Given the description of an element on the screen output the (x, y) to click on. 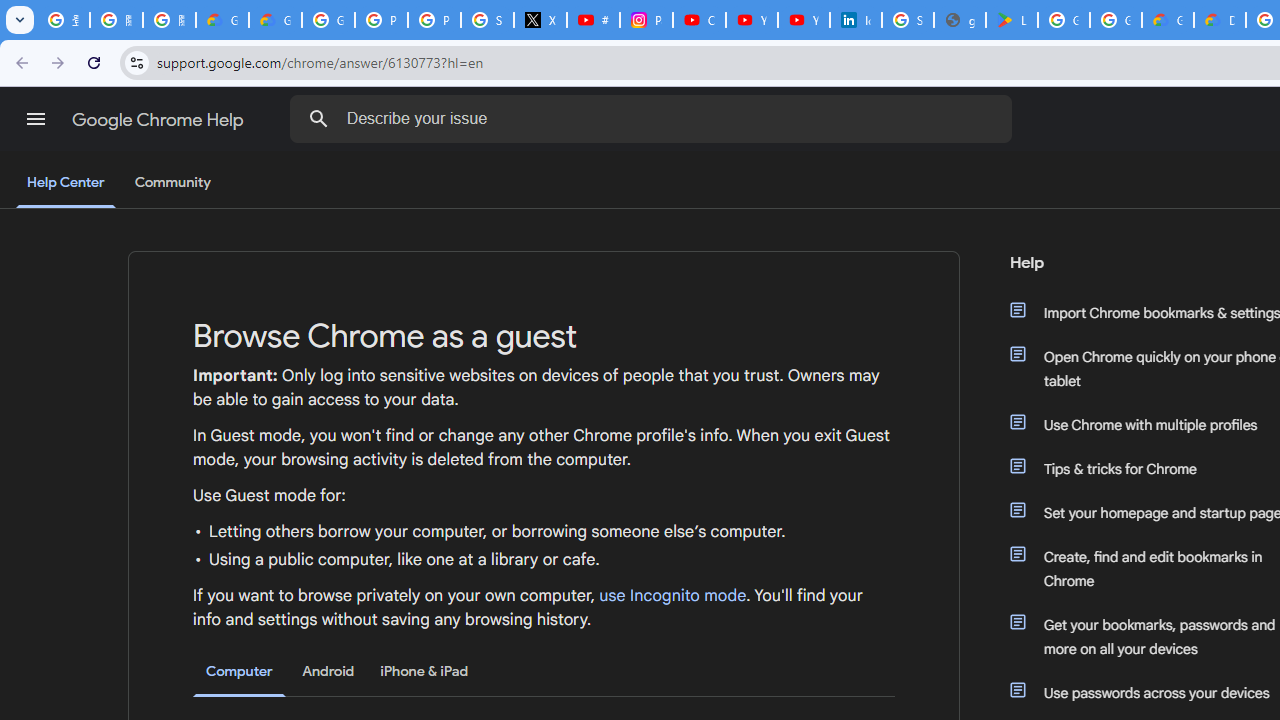
Sign in - Google Accounts (487, 20)
Google Workspace - Specific Terms (1115, 20)
System (10, 11)
Android (328, 671)
Computer (239, 672)
Last Shelter: Survival - Apps on Google Play (1011, 20)
iPhone & iPad (424, 671)
Privacy Help Center - Policies Help (381, 20)
Search tabs (20, 20)
google_privacy_policy_en.pdf (959, 20)
Community (171, 183)
Forward (57, 62)
Back (19, 62)
